Given the description of an element on the screen output the (x, y) to click on. 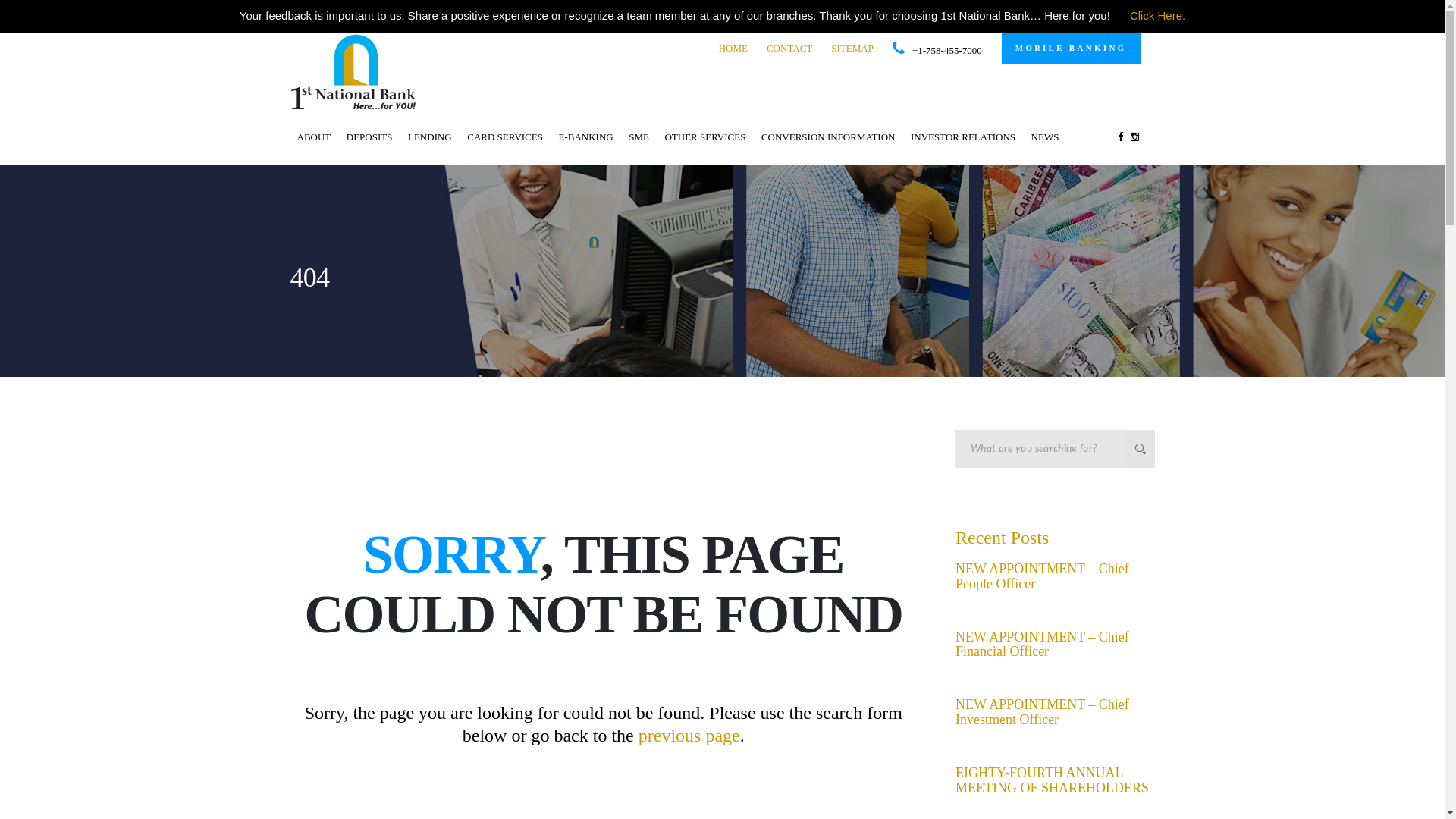
OTHER SERVICES Element type: text (704, 136)
ABOUT Element type: text (314, 136)
E-BANKING Element type: text (585, 136)
CARD SERVICES Element type: text (505, 136)
MOBILE BANKING Element type: text (1070, 48)
EIGHTY-FOURTH ANNUAL MEETING OF SHAREHOLDERS Element type: text (1051, 780)
CONTACT Element type: text (789, 47)
SITEMAP Element type: text (852, 47)
DEPOSITS Element type: text (369, 136)
previous page Element type: text (689, 735)
NEWS Element type: text (1045, 136)
HOME Element type: text (732, 47)
LENDING Element type: text (429, 136)
INVESTOR RELATIONS Element type: text (962, 136)
CONVERSION INFORMATION Element type: text (828, 136)
Instagram Element type: hover (1134, 136)
Click Here. Element type: text (1157, 16)
Facebook Element type: hover (1119, 136)
SME Element type: text (638, 136)
